Given the description of an element on the screen output the (x, y) to click on. 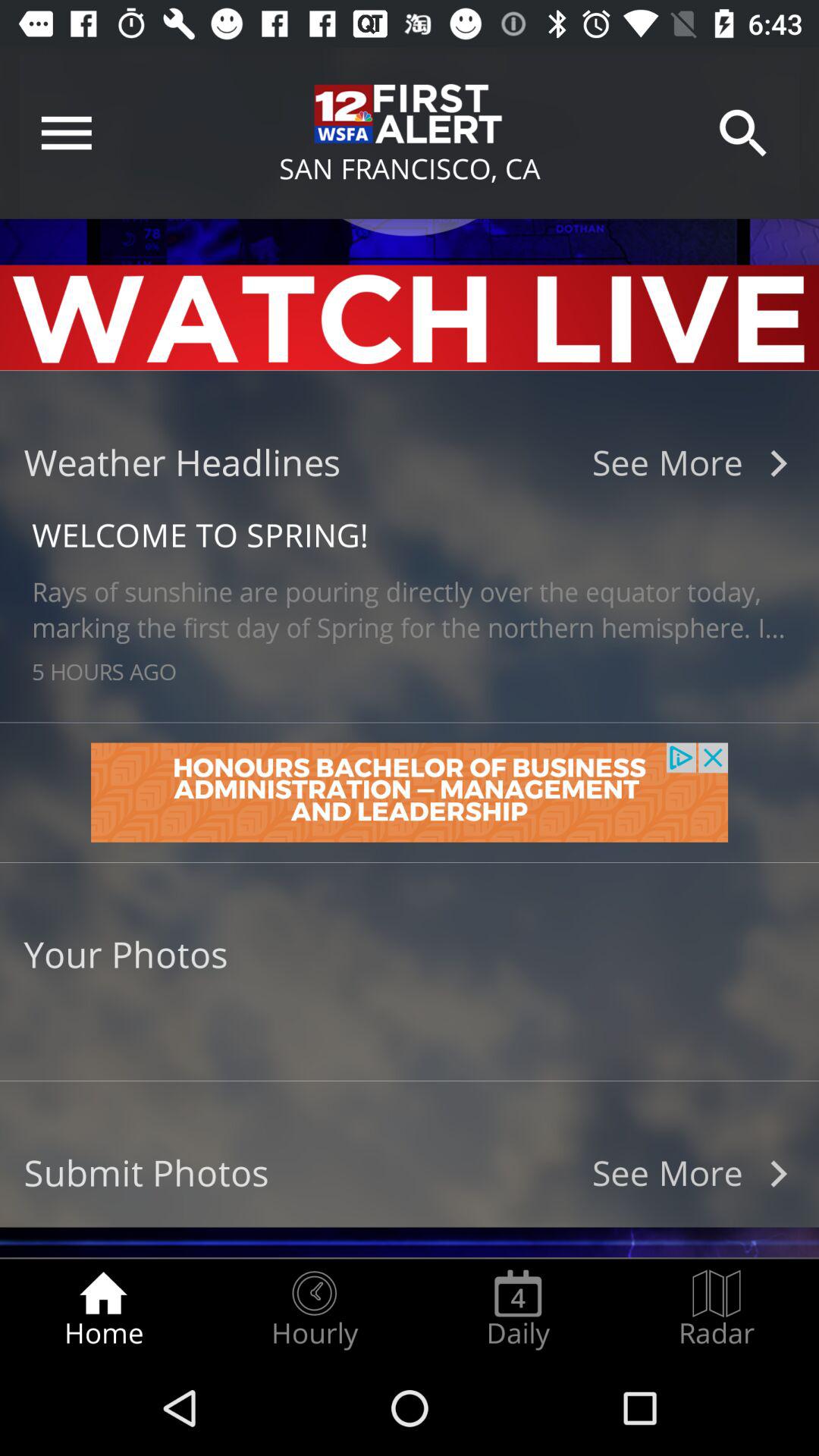
jump until hourly radio button (314, 1309)
